Given the description of an element on the screen output the (x, y) to click on. 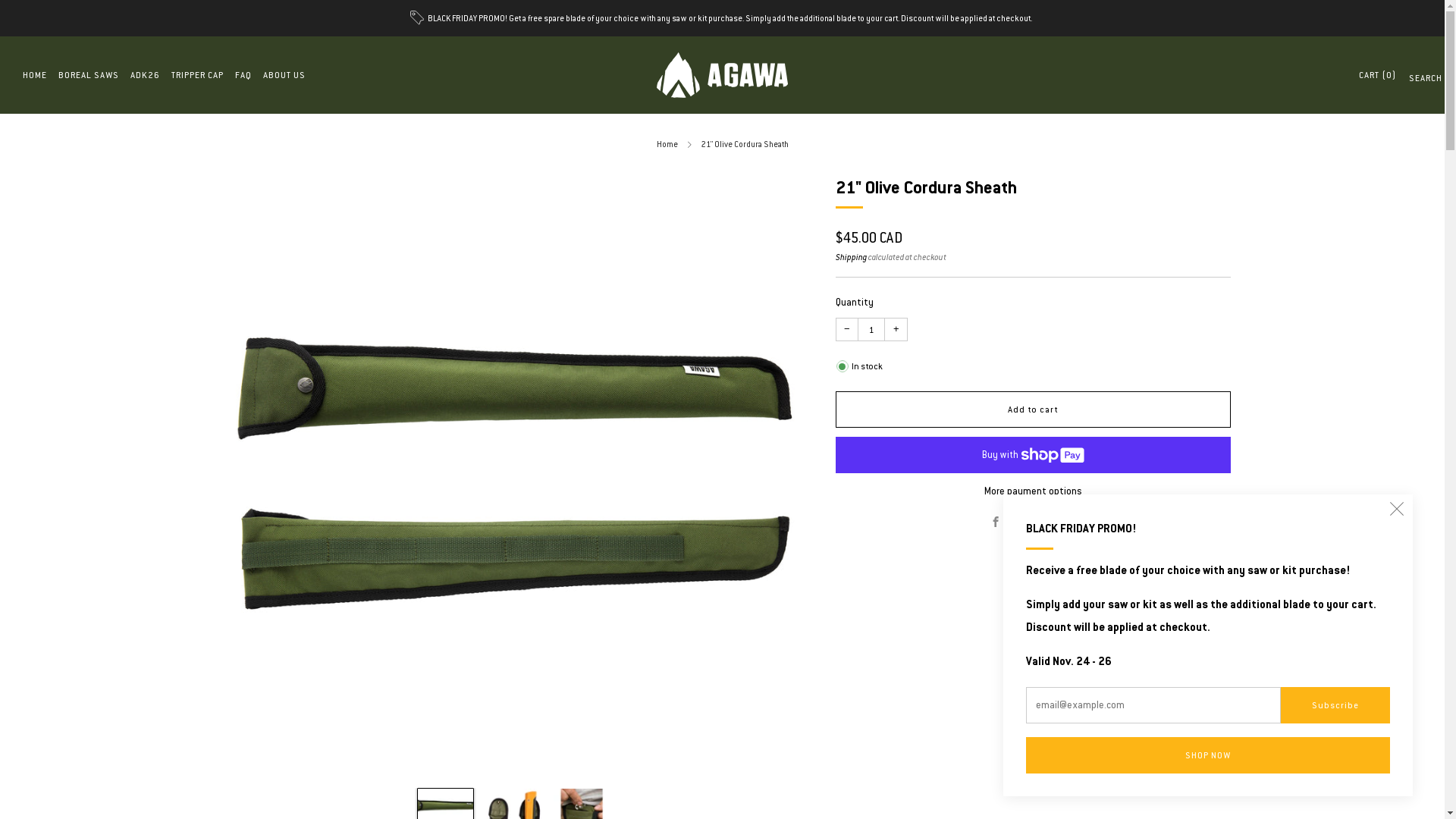
More payment options Element type: text (1032, 491)
TRIPPER CAP Element type: text (197, 74)
Shipping Element type: text (850, 256)
Subscribe Element type: text (1335, 705)
ABOUT US Element type: text (284, 74)
CART (0) Element type: text (1377, 74)
Email Element type: text (1069, 523)
FAQ Element type: text (243, 74)
SEARCH Element type: text (1414, 83)
Home Element type: text (666, 143)
HOME Element type: text (34, 74)
Twitter Element type: text (1019, 523)
SHOP NOW Element type: text (1208, 755)
Facebook Element type: text (995, 523)
BOREAL SAWS Element type: text (88, 74)
Pinterest Element type: text (1045, 523)
Close (esc) Element type: text (1396, 510)
Add to cart Element type: text (1032, 409)
ADK26 Element type: text (145, 74)
+
Increase item quantity by one Element type: text (895, 329)
